Given the description of an element on the screen output the (x, y) to click on. 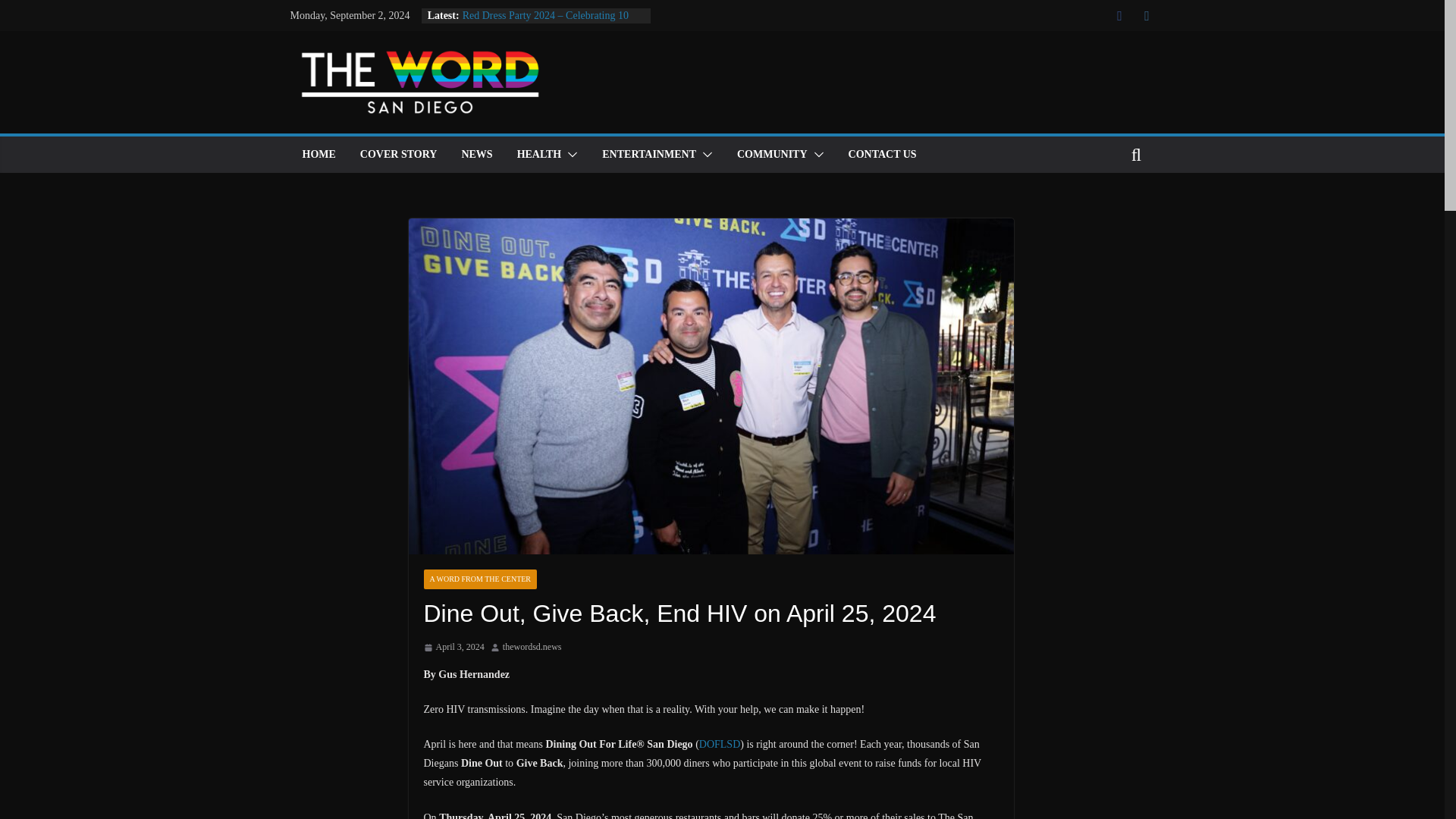
ENTERTAINMENT (648, 154)
COMMUNITY (772, 154)
HEALTH (539, 154)
thewordsd.news (532, 647)
COVER STORY (398, 154)
A WORD FROM THE CENTER (480, 578)
DOFLSD (718, 744)
thewordsd.news (532, 647)
NEWS (476, 154)
April 3, 2024 (453, 647)
